Given the description of an element on the screen output the (x, y) to click on. 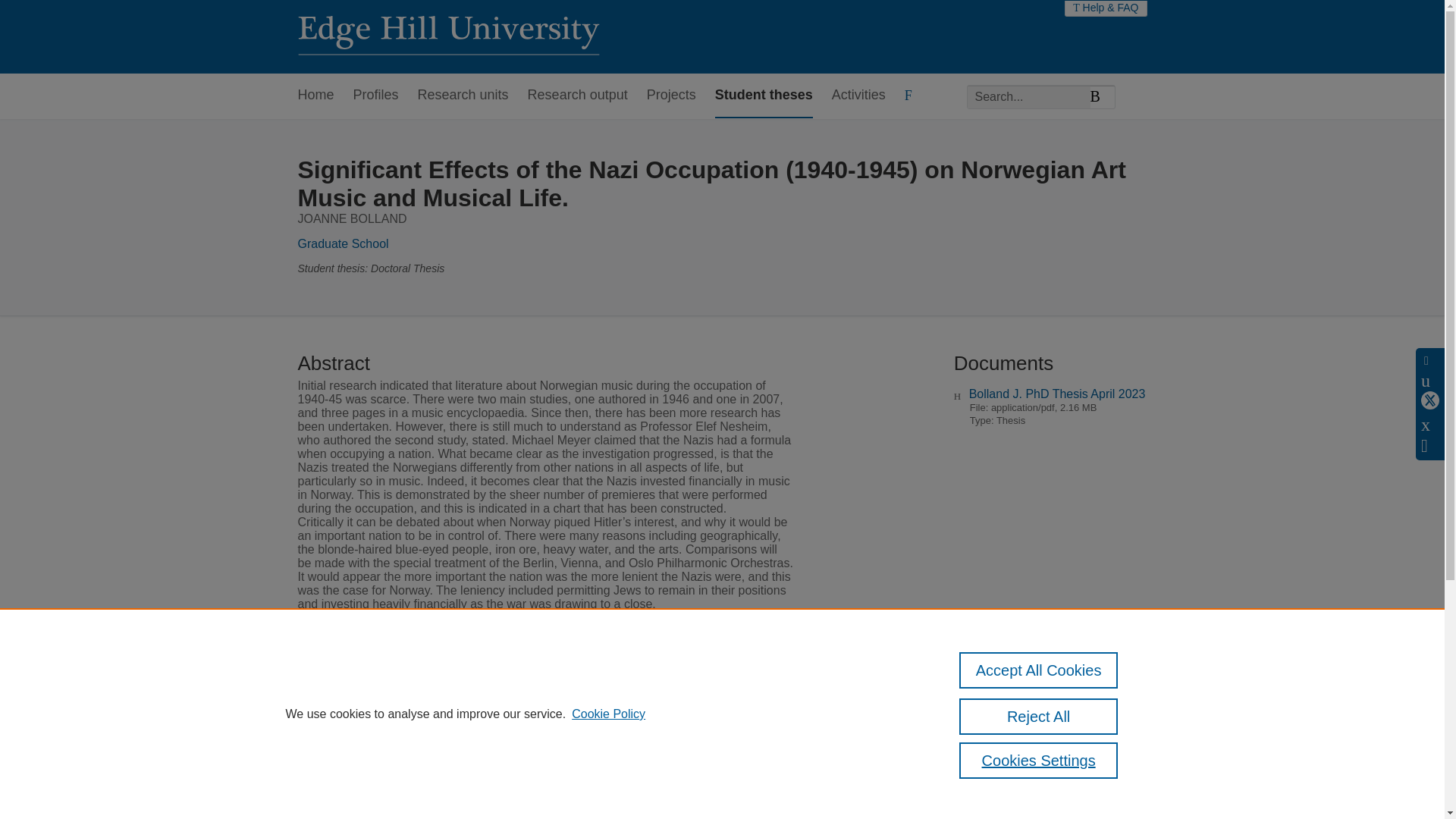
Research units (462, 95)
Student theses (763, 95)
Research output (577, 95)
Cookies Settings (1038, 760)
Activities (858, 95)
Accept All Cookies (1038, 669)
Bolland J. PhD Thesis April 2023 (1057, 393)
Reject All (1038, 716)
HELEN NEWALL (557, 687)
